Given the description of an element on the screen output the (x, y) to click on. 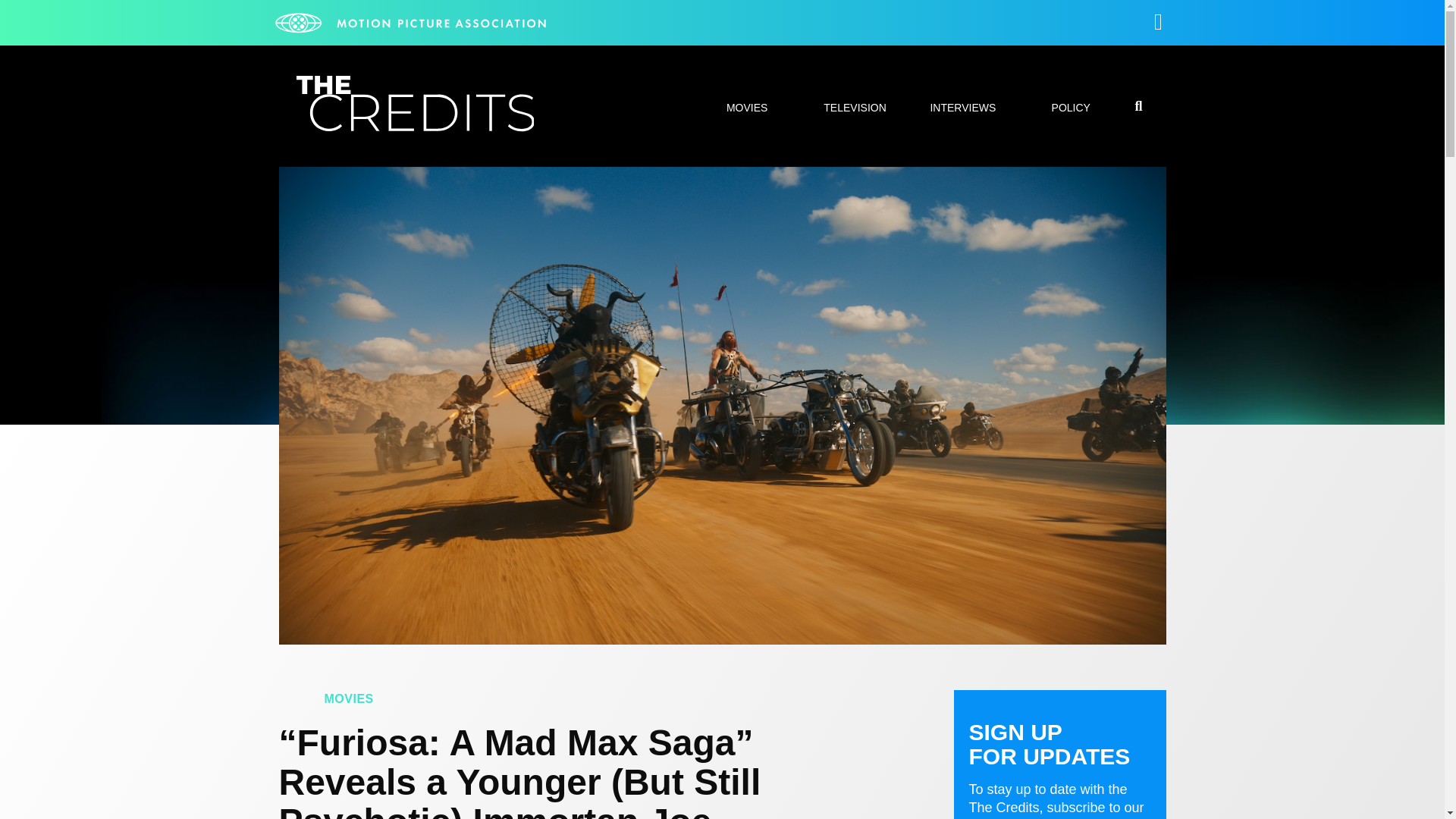
Search (1077, 408)
